Given the description of an element on the screen output the (x, y) to click on. 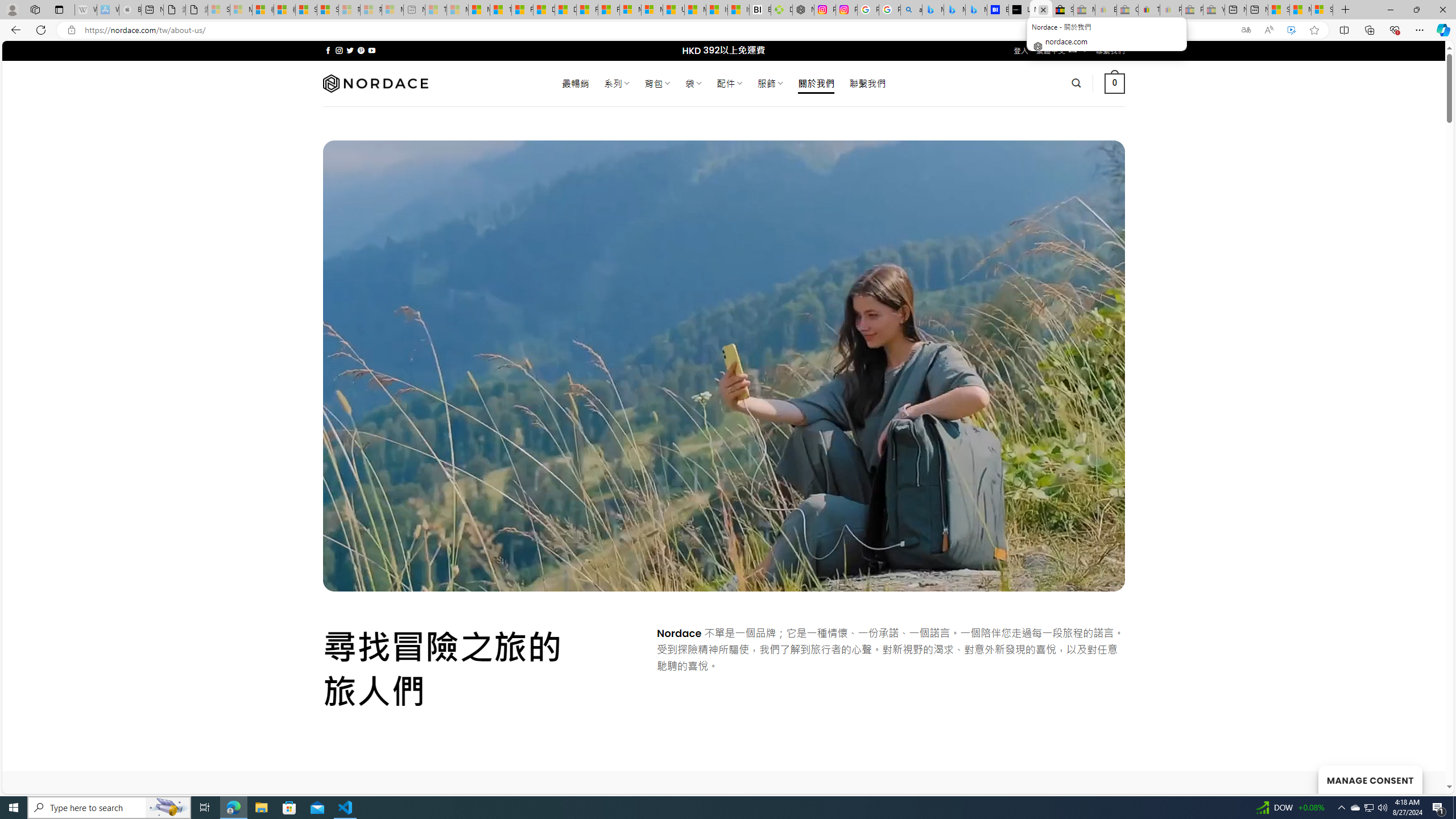
Food and Drink - MSN (522, 9)
Follow on Pinterest (360, 50)
